Given the description of an element on the screen output the (x, y) to click on. 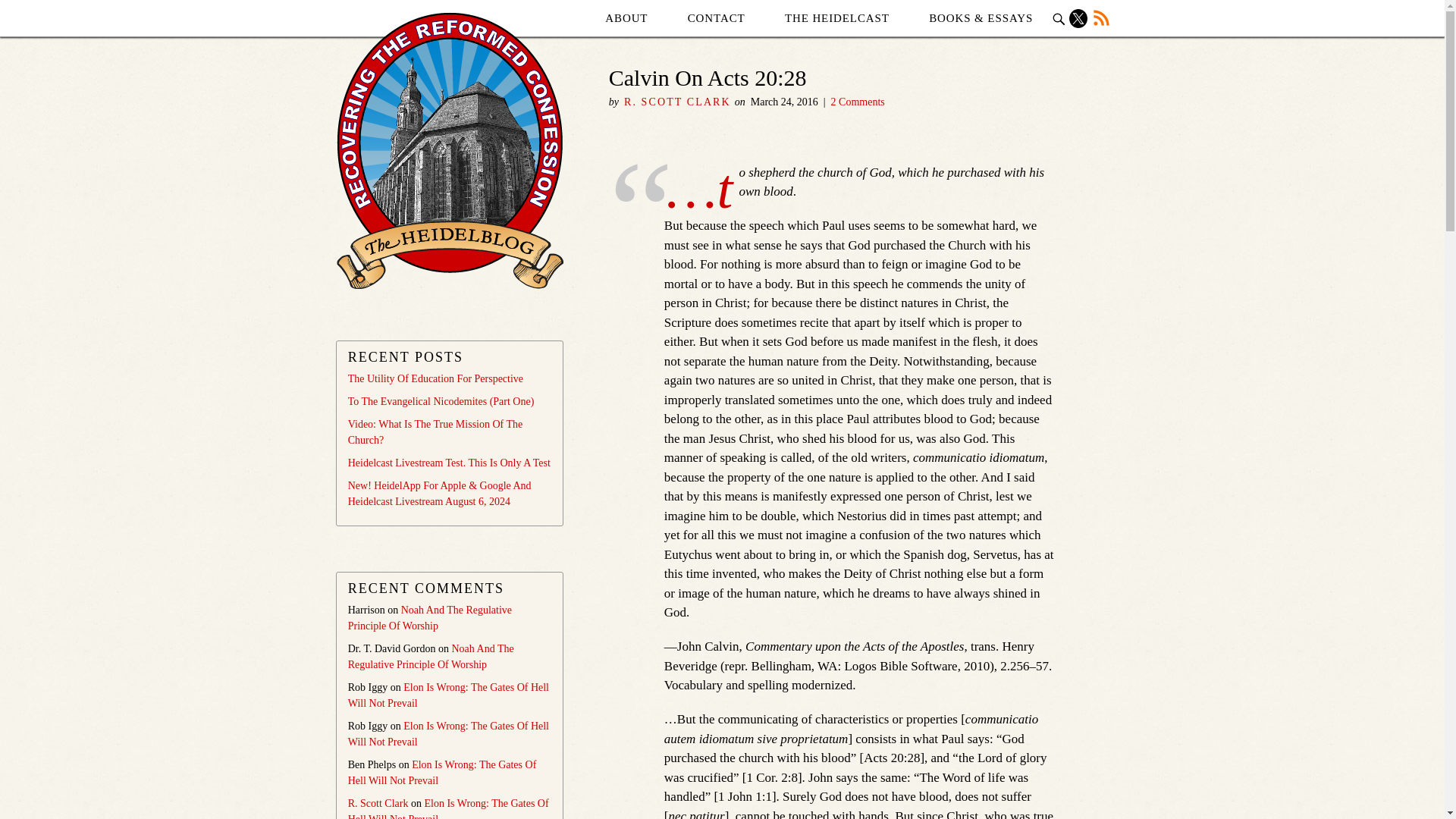
2 Comments (858, 101)
THE HEIDELCAST (837, 18)
ABOUT (625, 18)
The Heidelcast (837, 18)
CONTACT (715, 18)
About (625, 18)
R. SCOTT CLARK (677, 101)
Contact (715, 18)
